Given the description of an element on the screen output the (x, y) to click on. 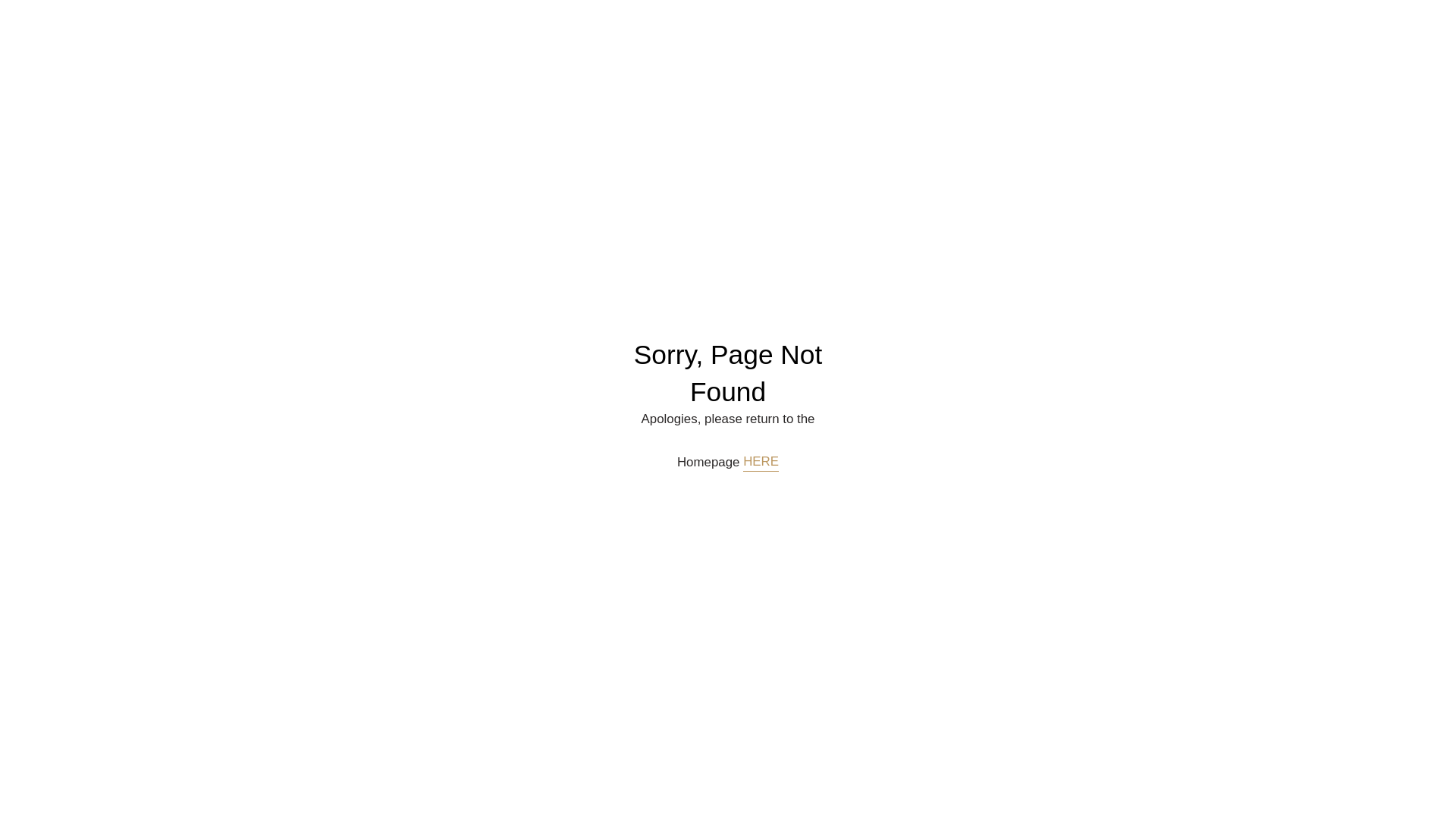
HERE Element type: text (760, 462)
